Given the description of an element on the screen output the (x, y) to click on. 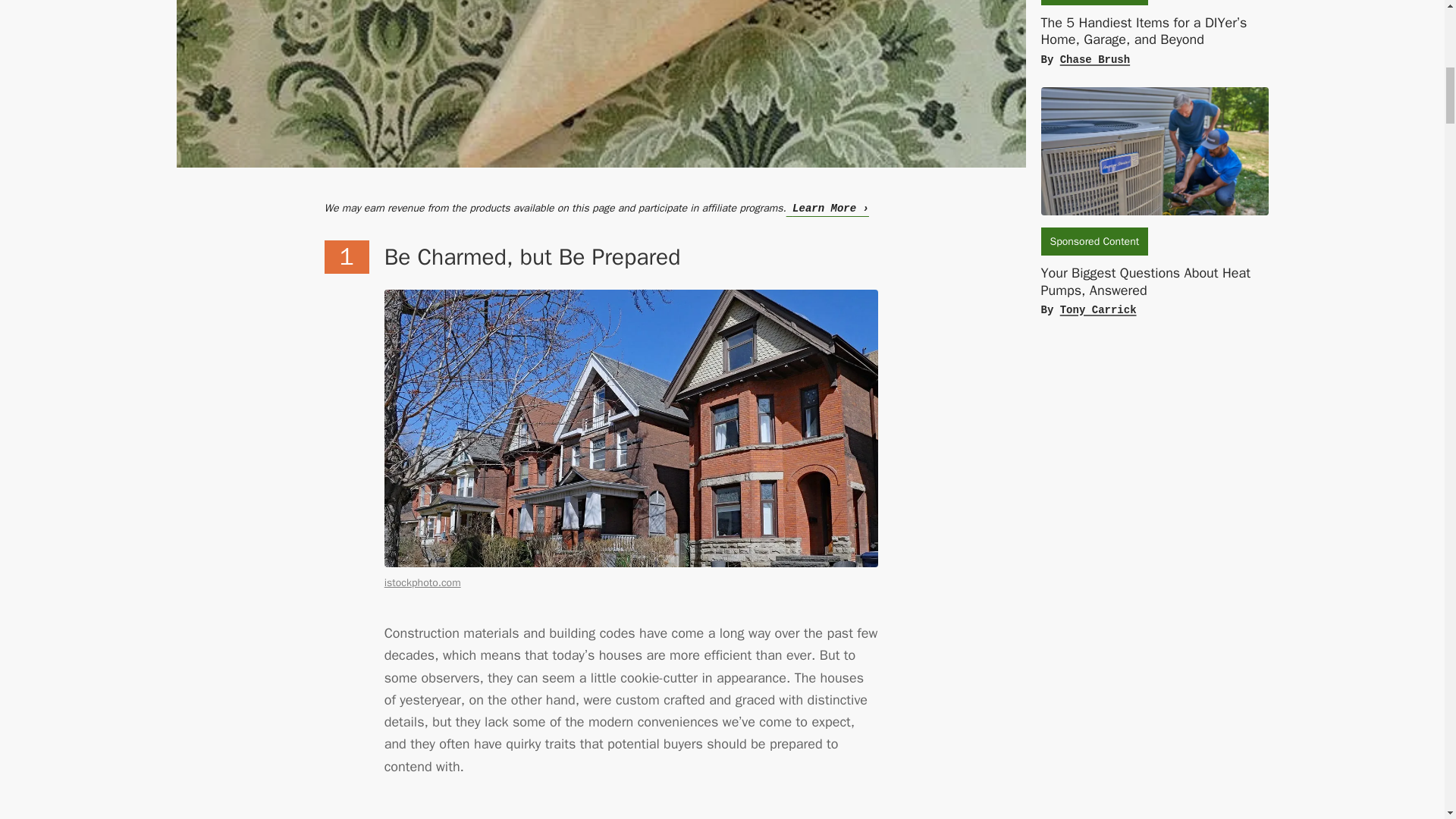
istockphoto.com (422, 582)
